Given the description of an element on the screen output the (x, y) to click on. 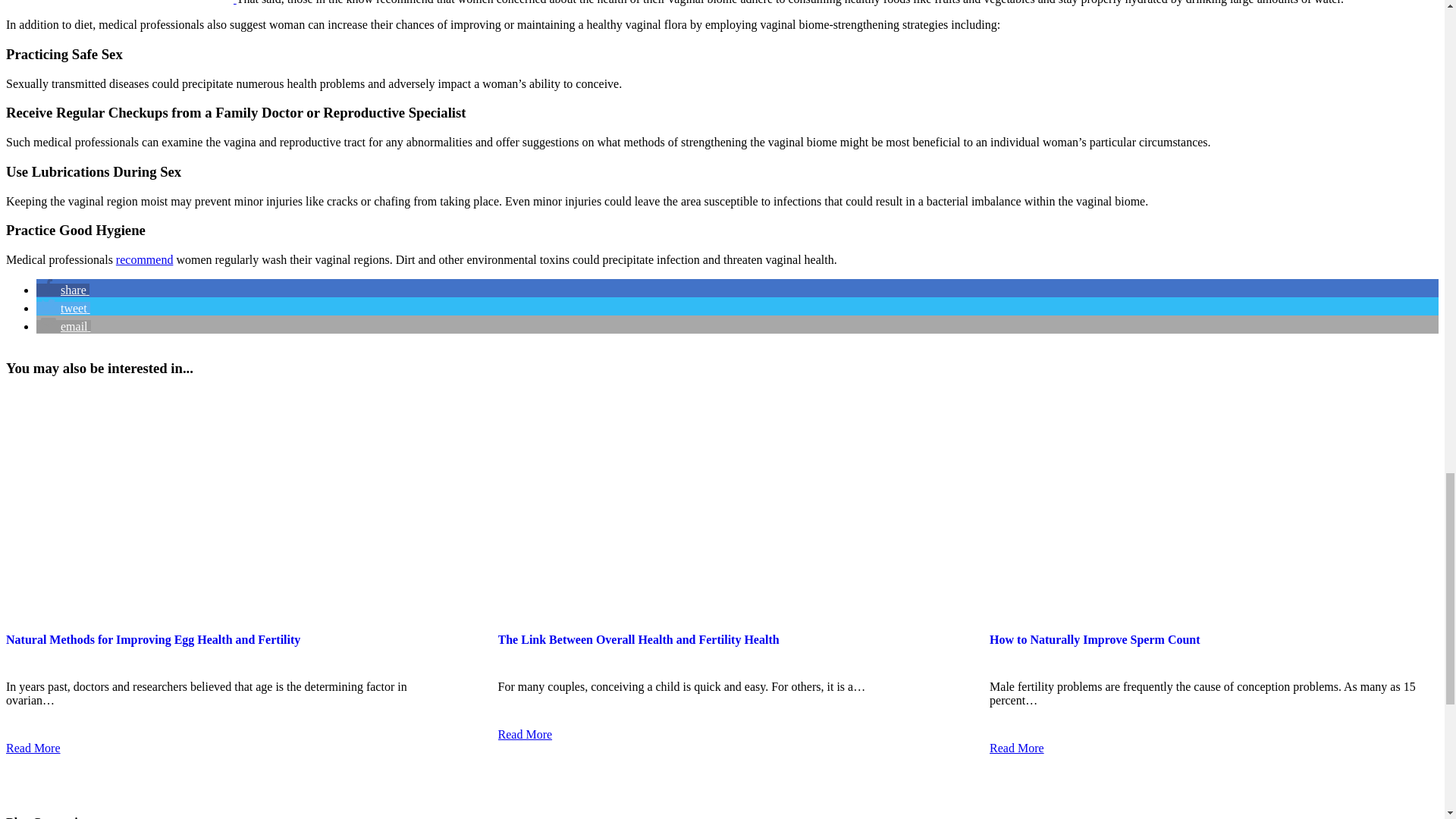
recommend (144, 259)
share  (62, 289)
Share on Facebook (62, 289)
Share on Twitter (63, 308)
Send by email (63, 326)
